Given the description of an element on the screen output the (x, y) to click on. 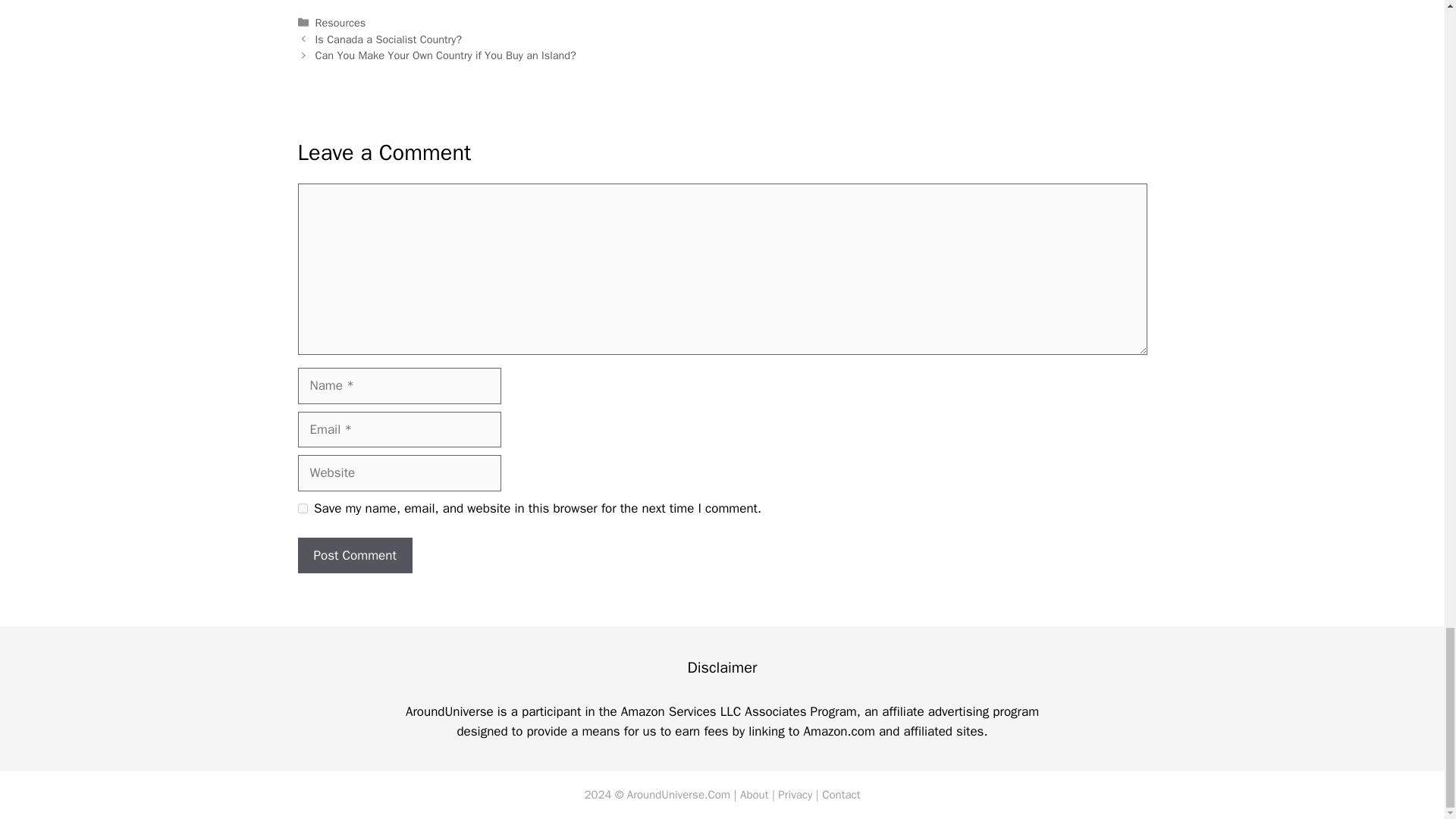
yes (302, 508)
Post Comment (354, 555)
Privacy (794, 794)
About (753, 794)
Post Comment (354, 555)
Contact (841, 794)
Is Canada a Socialist Country? (388, 38)
Resources (340, 22)
Can You Make Your Own Country if You Buy an Island? (445, 55)
